Given the description of an element on the screen output the (x, y) to click on. 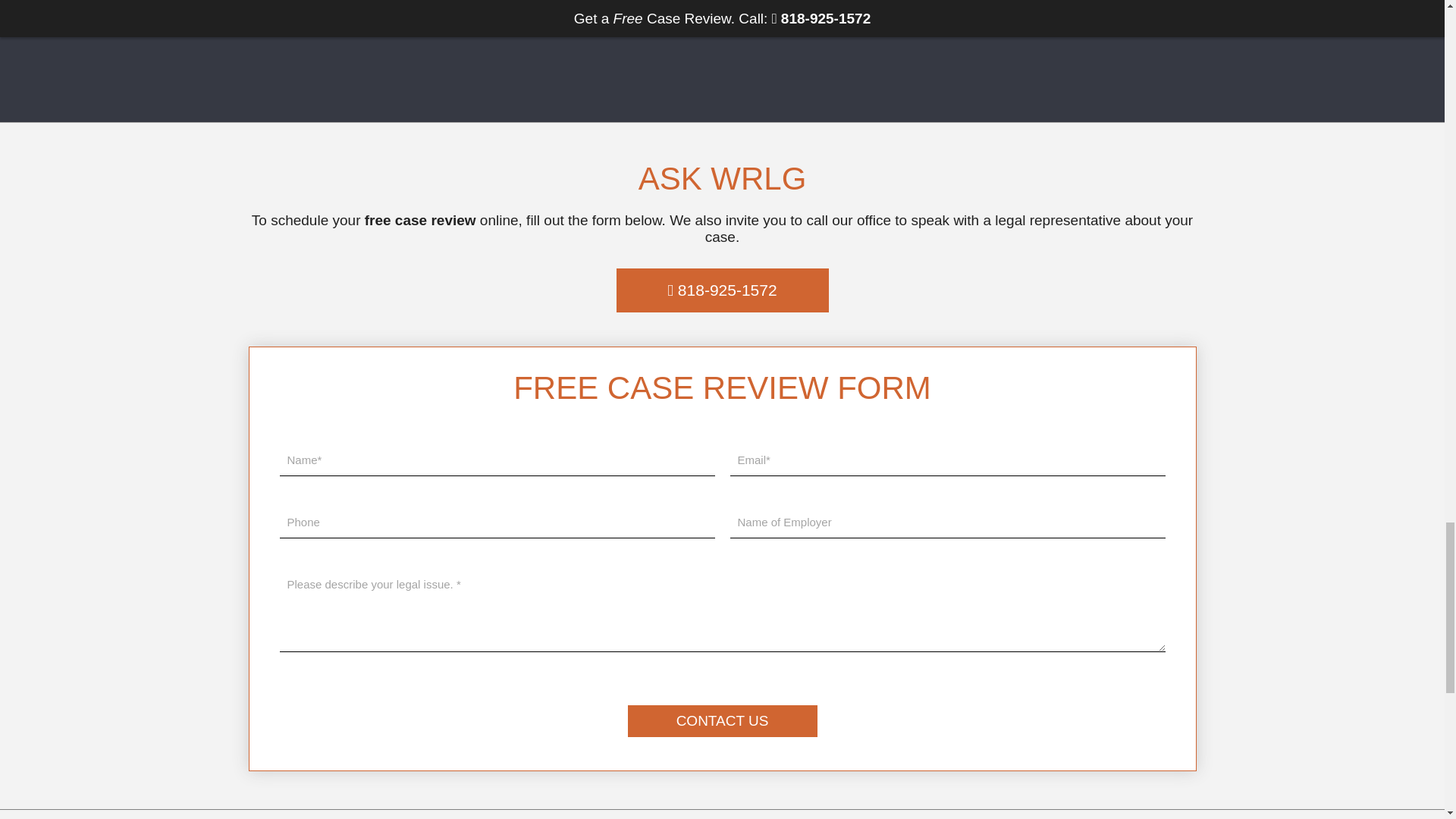
Contact Us (721, 721)
Call Us (721, 290)
